Given the description of an element on the screen output the (x, y) to click on. 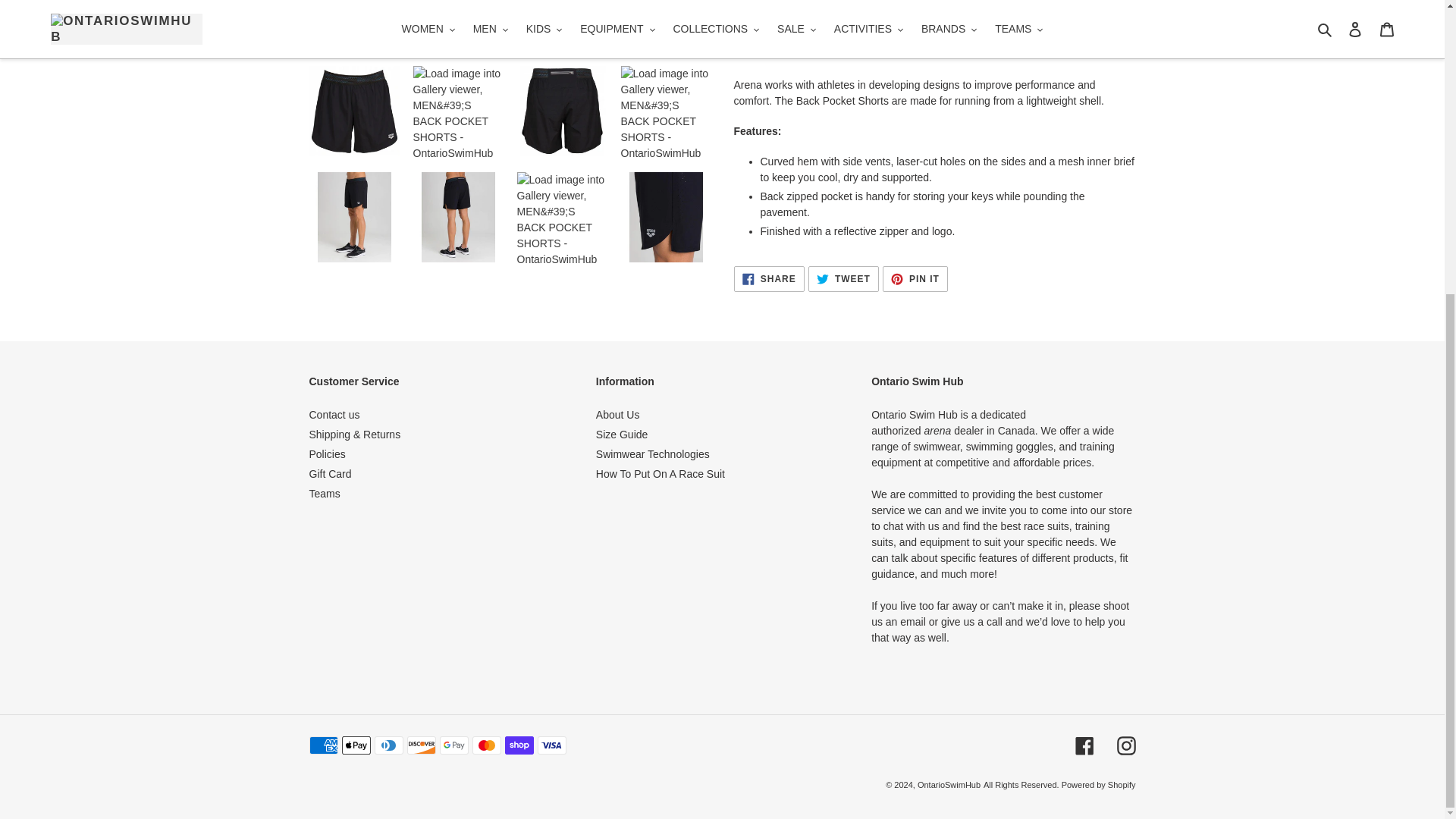
Diners Club (388, 745)
Apple Pay (354, 745)
American Express (322, 745)
Google Pay (453, 745)
Discover (420, 745)
